Given the description of an element on the screen output the (x, y) to click on. 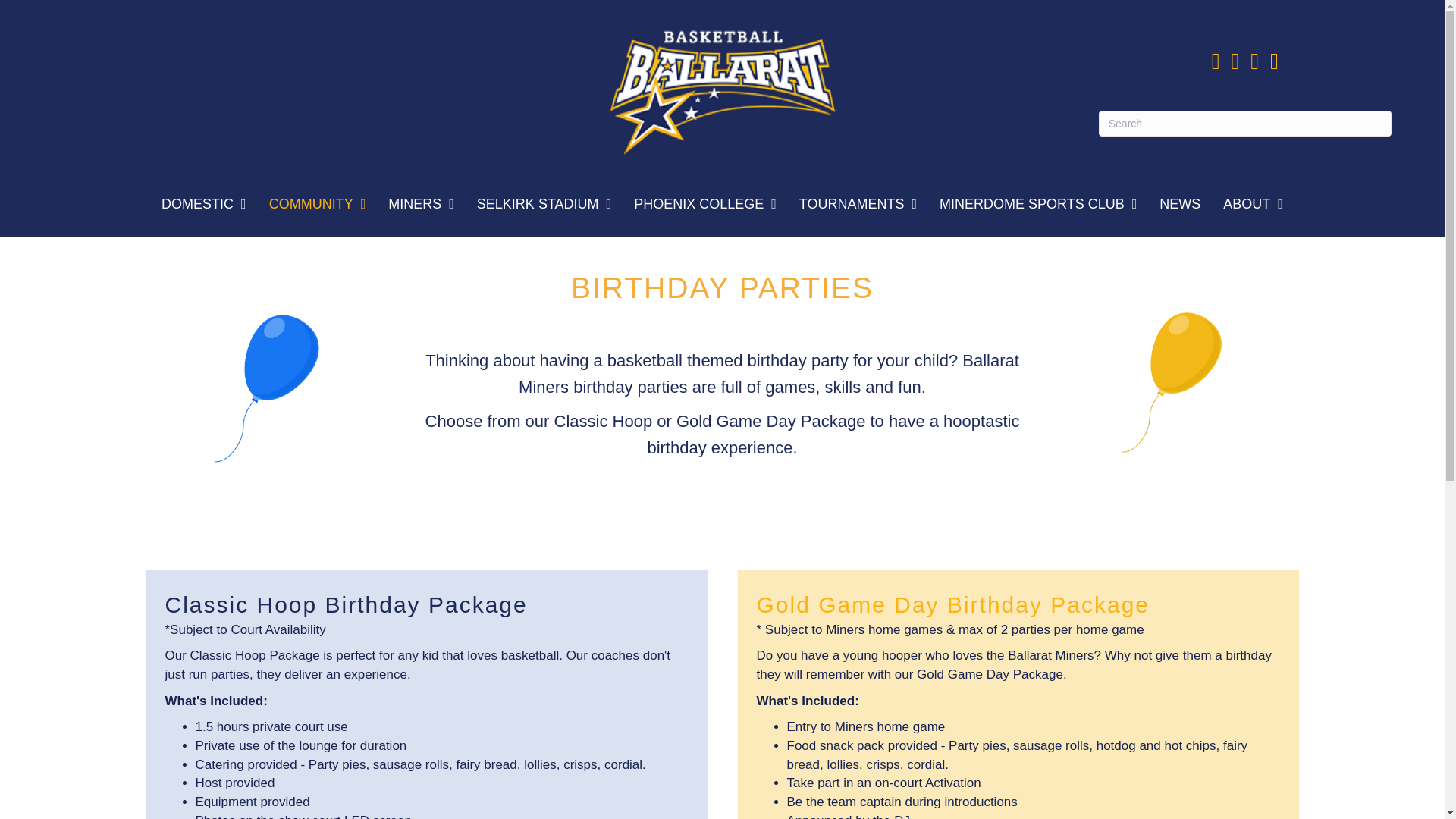
MINERS (420, 203)
COMMUNITY (318, 203)
blue ballon (266, 388)
yellow ballon (1172, 382)
DOMESTIC (203, 203)
Ballarat Basketball (721, 88)
Type and press Enter to search. (1245, 123)
